Given the description of an element on the screen output the (x, y) to click on. 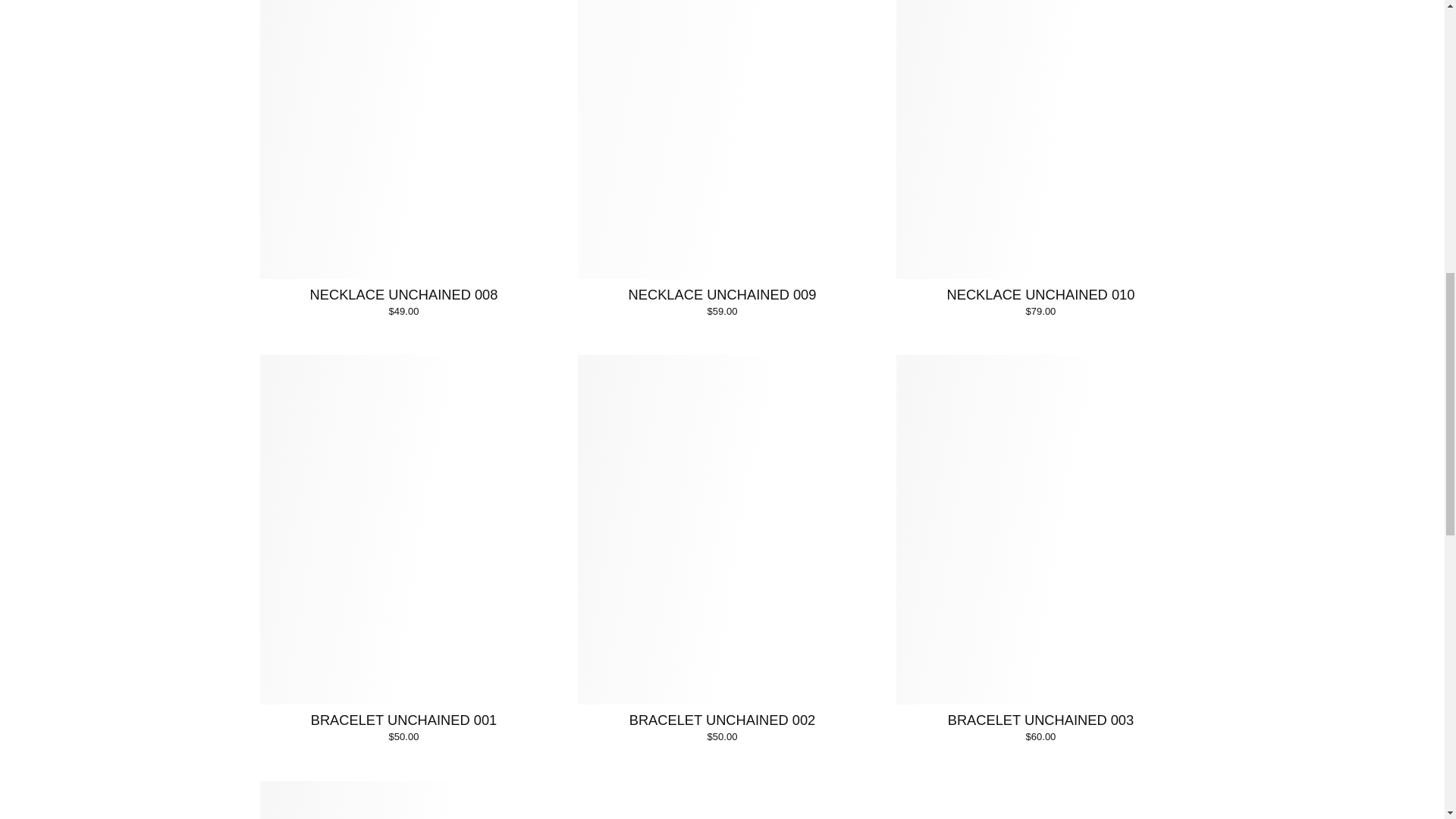
ICON-HAMBURGER (130, 47)
